Given the description of an element on the screen output the (x, y) to click on. 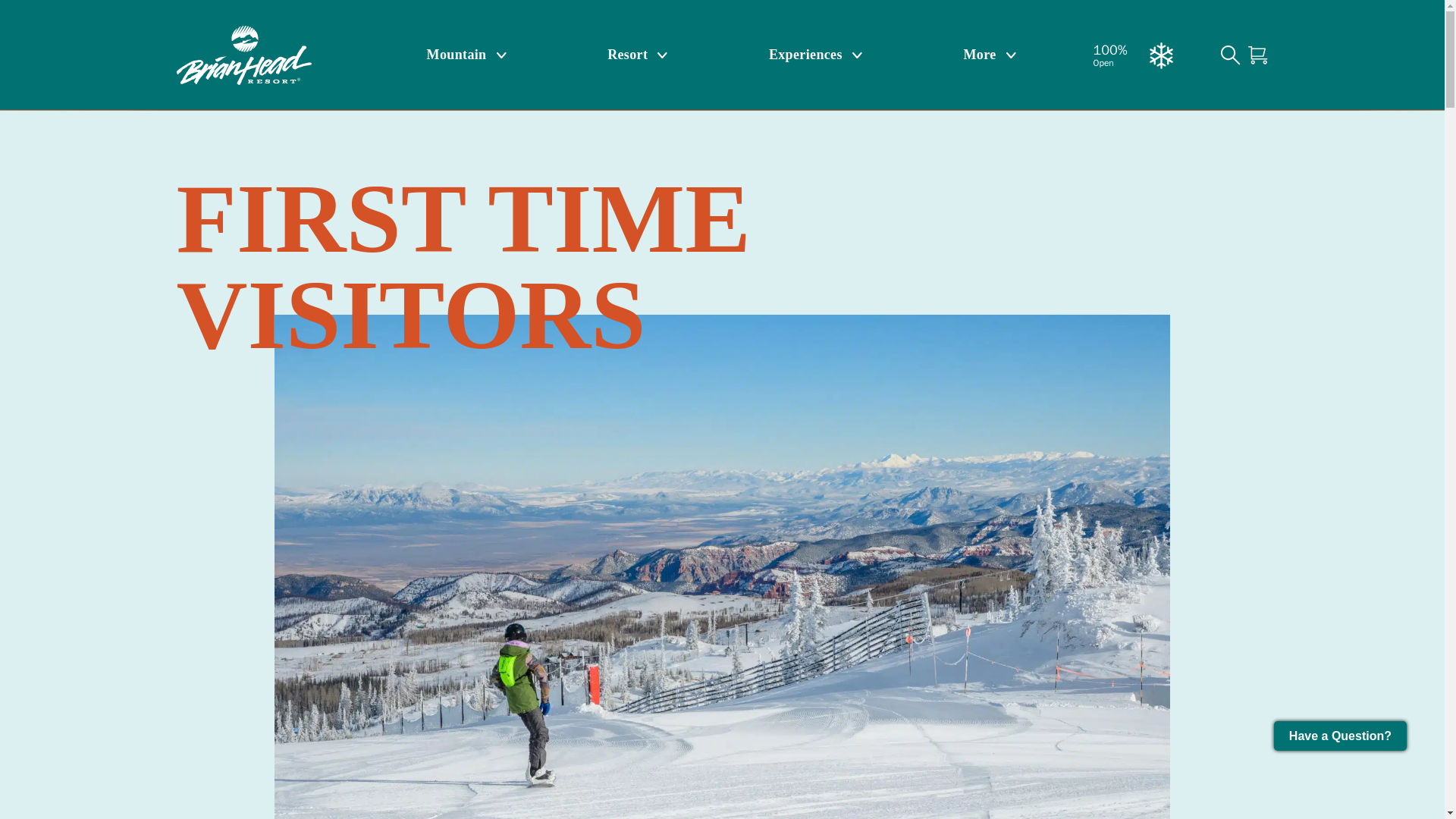
Mountain (466, 55)
Resort (636, 55)
